Given the description of an element on the screen output the (x, y) to click on. 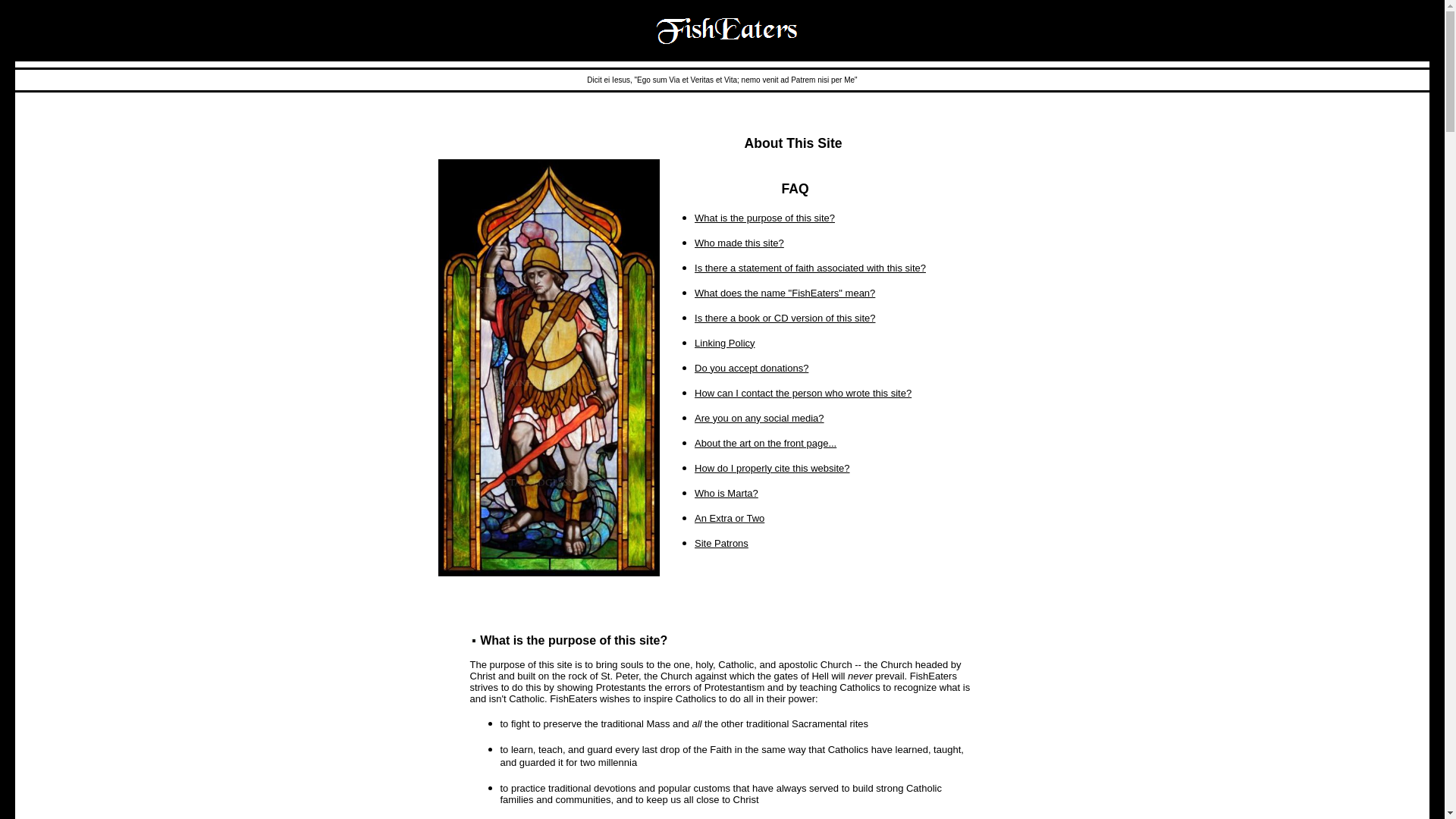
Are you on any social media? (759, 417)
Do you accept donations? (751, 367)
Catholicism in the traditional way (847, 818)
An Extra or Two (729, 517)
Is there a statement of faith associated with this site? (810, 267)
How can I contact the person who wrote this site? (802, 392)
About the art on the front page... (764, 442)
Is there a book or CD version of this site? (784, 317)
Who is Marta? (726, 492)
